Given the description of an element on the screen output the (x, y) to click on. 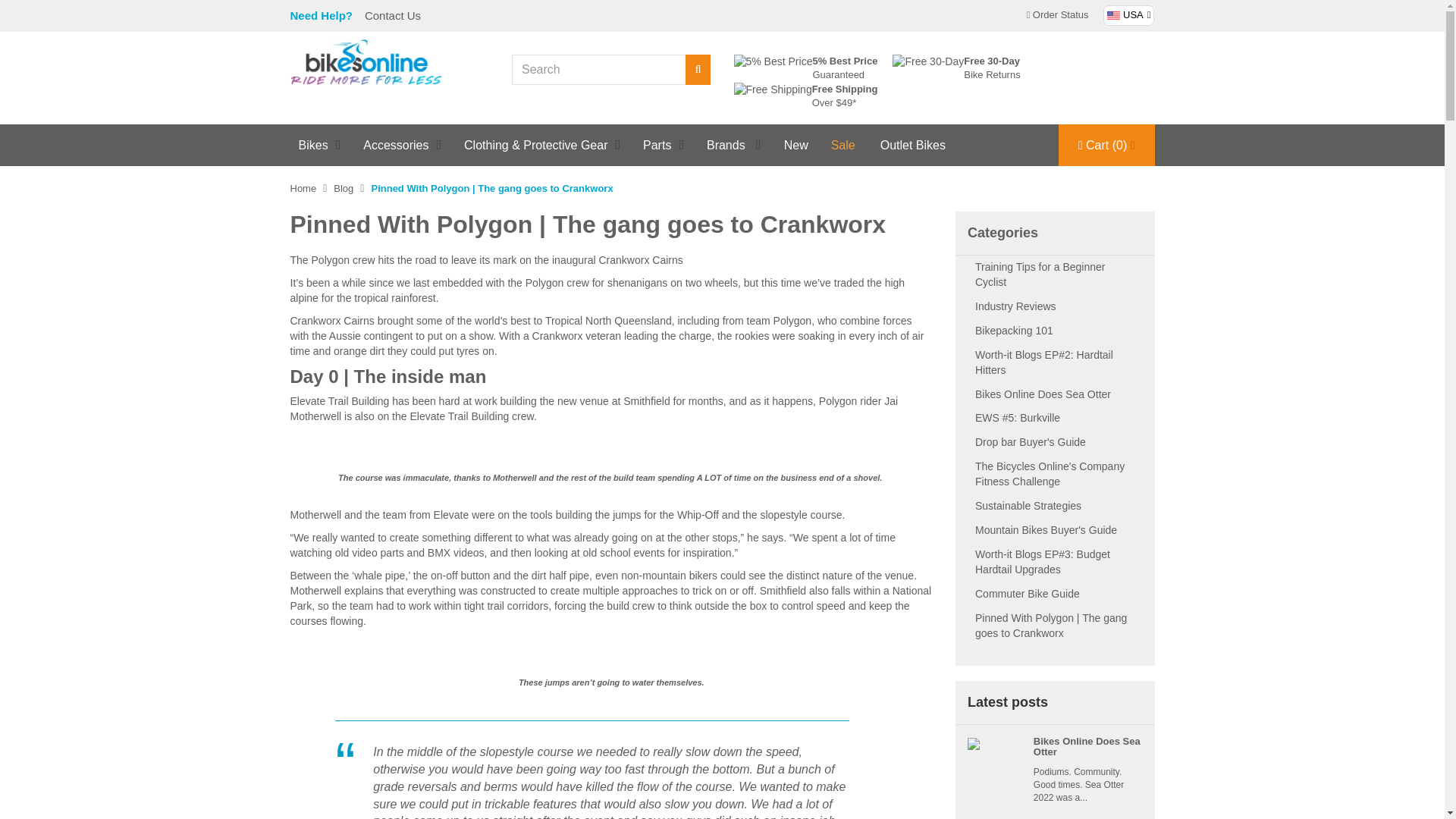
Need Help? (322, 15)
Contact Us (392, 15)
Order Status (1056, 15)
USA (1128, 14)
Search (698, 69)
Bikes Online (365, 61)
